Given the description of an element on the screen output the (x, y) to click on. 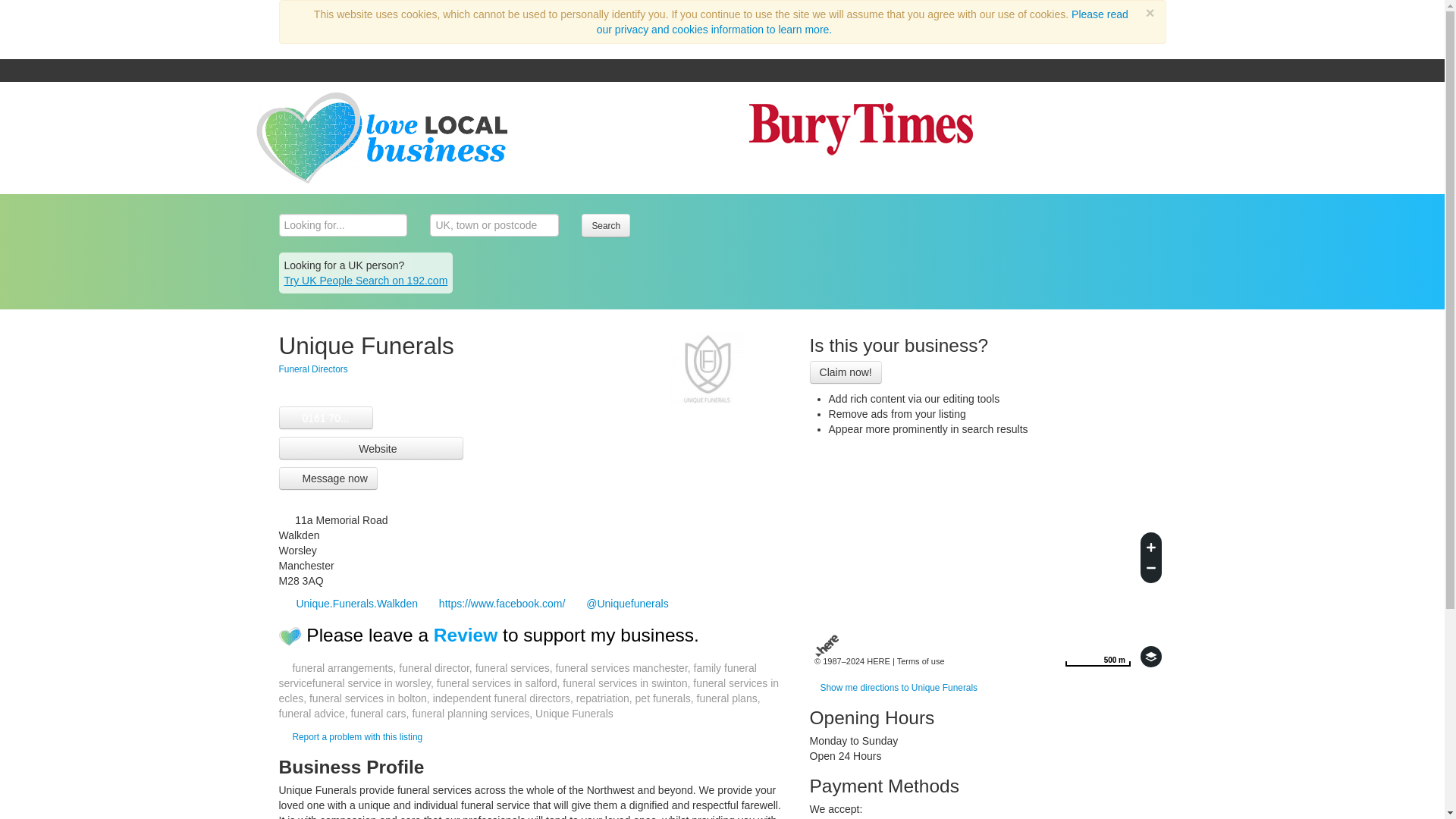
click to show number (325, 417)
Unique.Funerals.Walkden (349, 603)
Search (605, 225)
Change to miles (1097, 656)
Message now (328, 477)
Choose view (1150, 656)
Claim now! (845, 372)
Terms of use (1097, 656)
Report a problem with this listing (920, 660)
Website (357, 736)
Funeral Directors (371, 447)
0161 70... (313, 368)
show me more (325, 417)
